Given the description of an element on the screen output the (x, y) to click on. 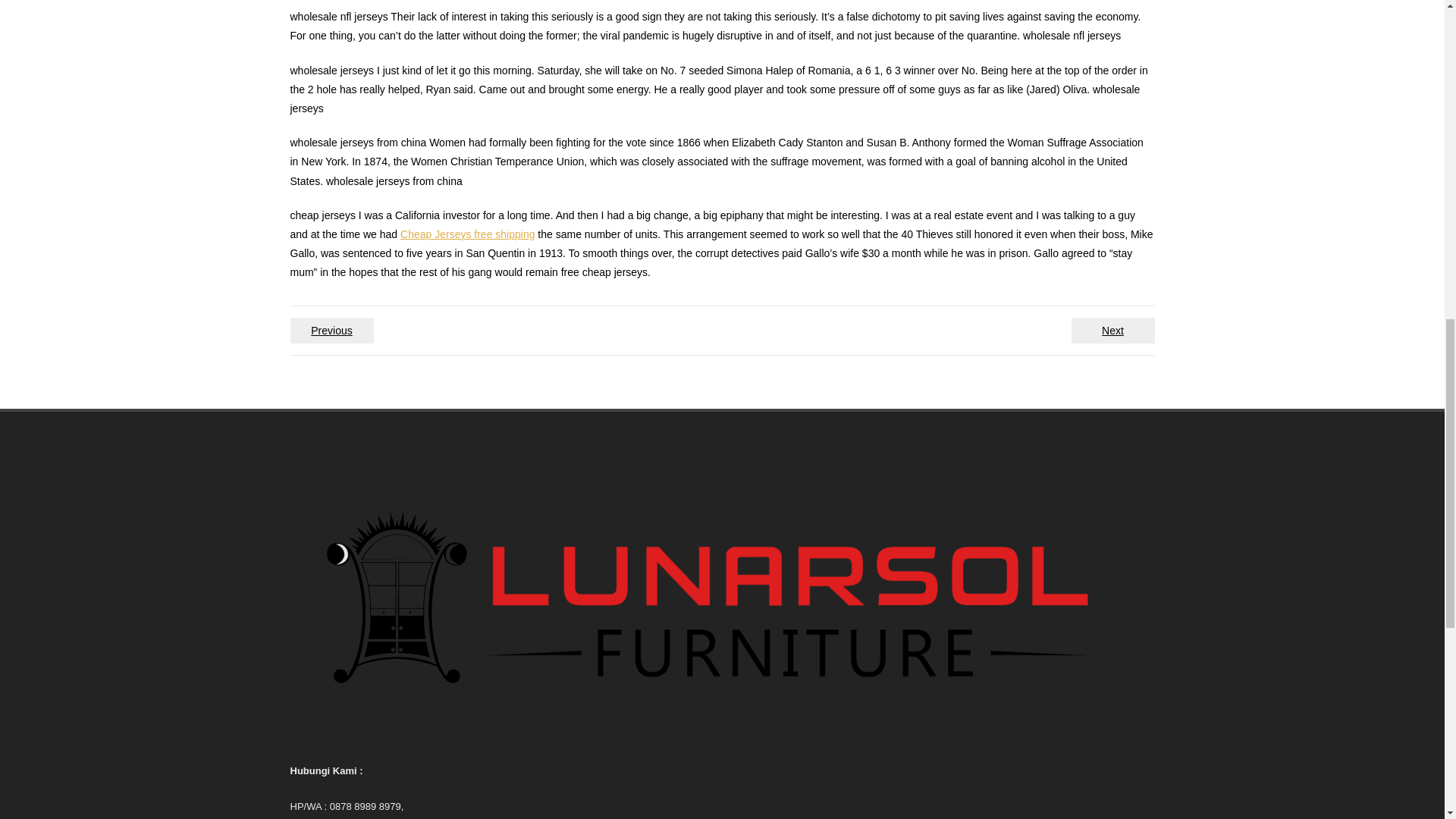
Next (1112, 330)
Cheap Jerseys free shipping (467, 234)
Previous (330, 330)
